Given the description of an element on the screen output the (x, y) to click on. 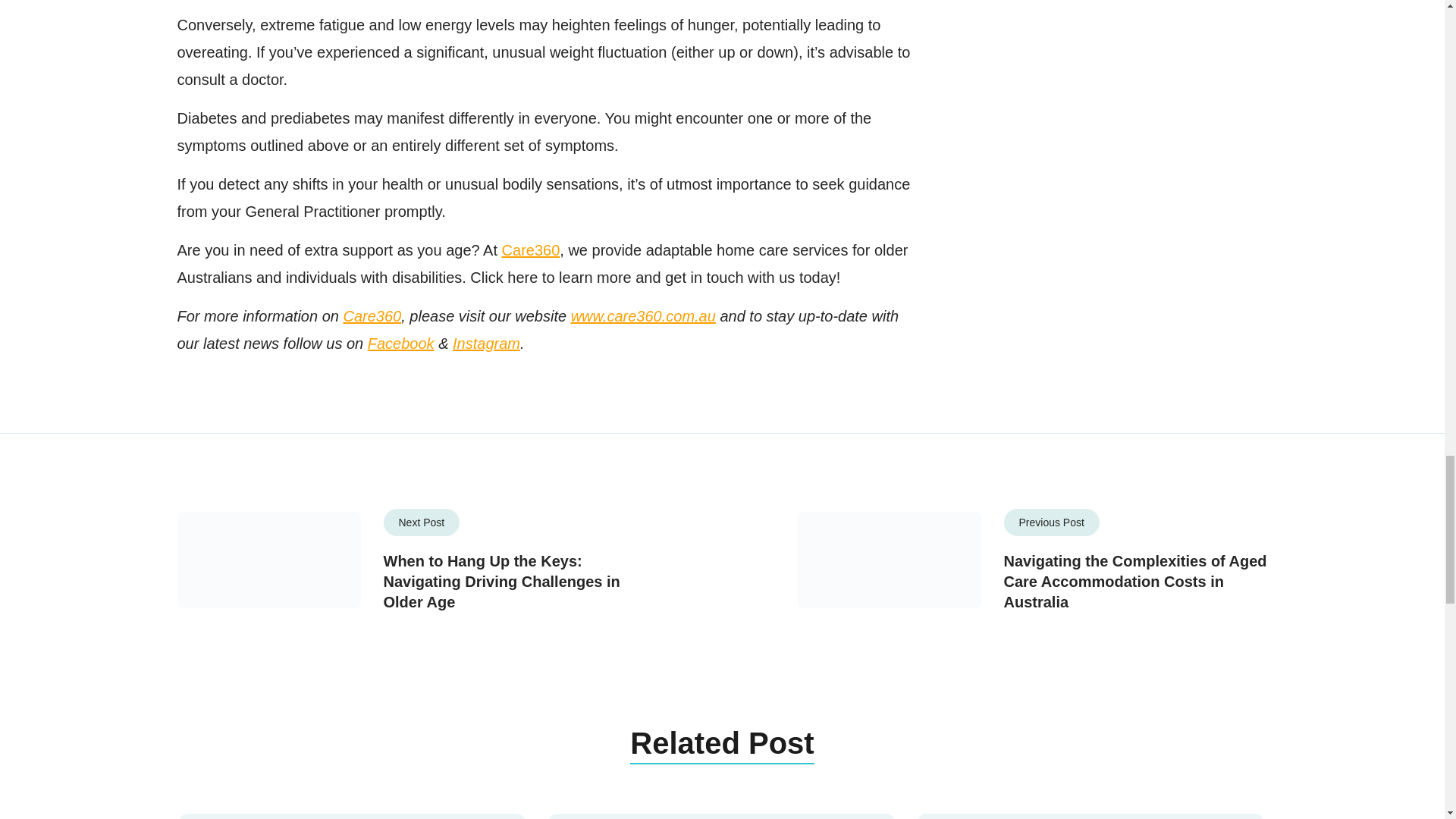
Next Post (422, 522)
Facebook (400, 343)
Instagram (485, 343)
Care360 (531, 249)
Previous Post (1051, 522)
Care360 (371, 315)
www.care360.com.au (643, 315)
